Given the description of an element on the screen output the (x, y) to click on. 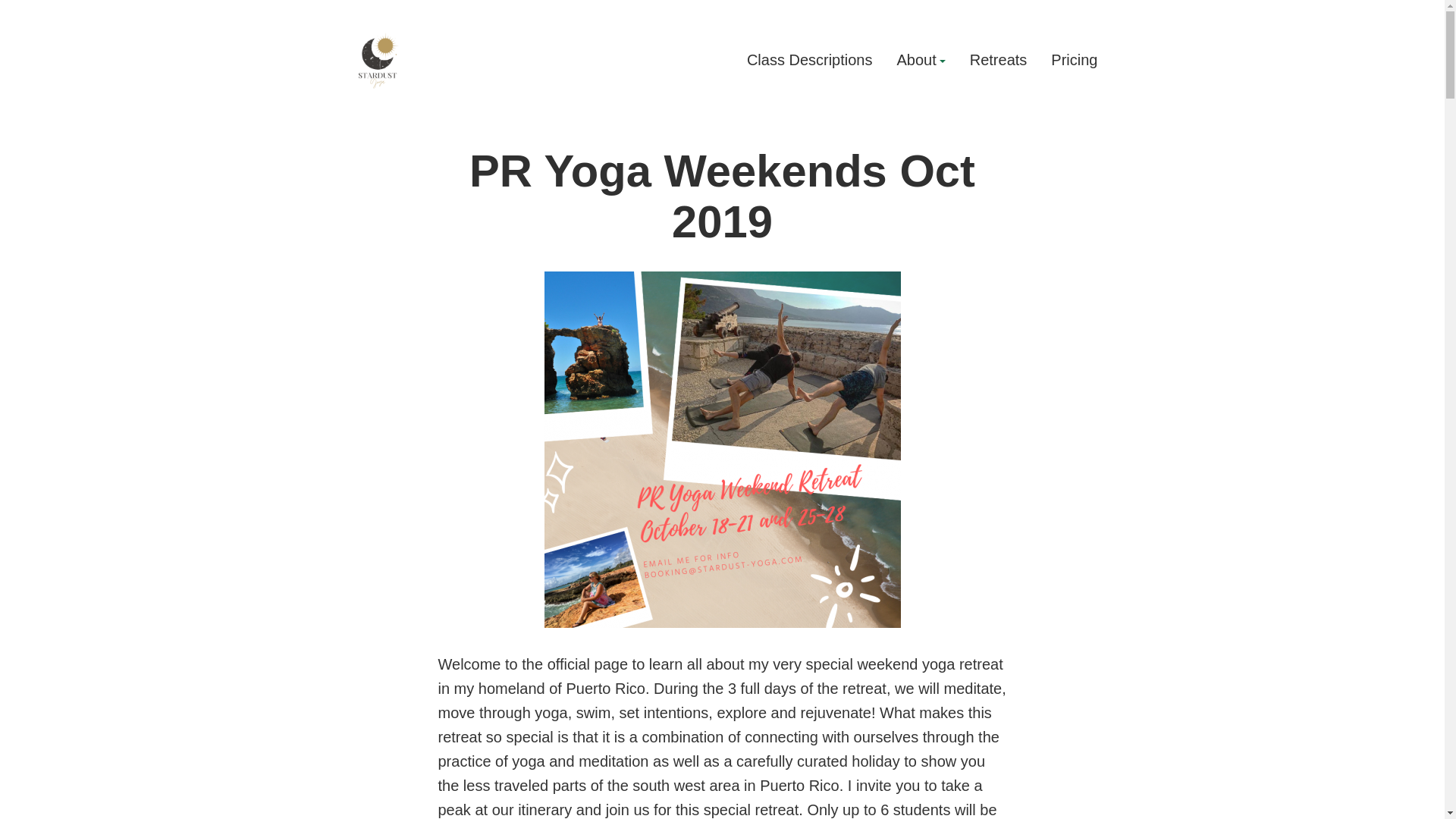
Class Descriptions (809, 60)
About (920, 60)
Retreats (998, 60)
Stardust Yoga (413, 113)
Pricing (1074, 60)
